Given the description of an element on the screen output the (x, y) to click on. 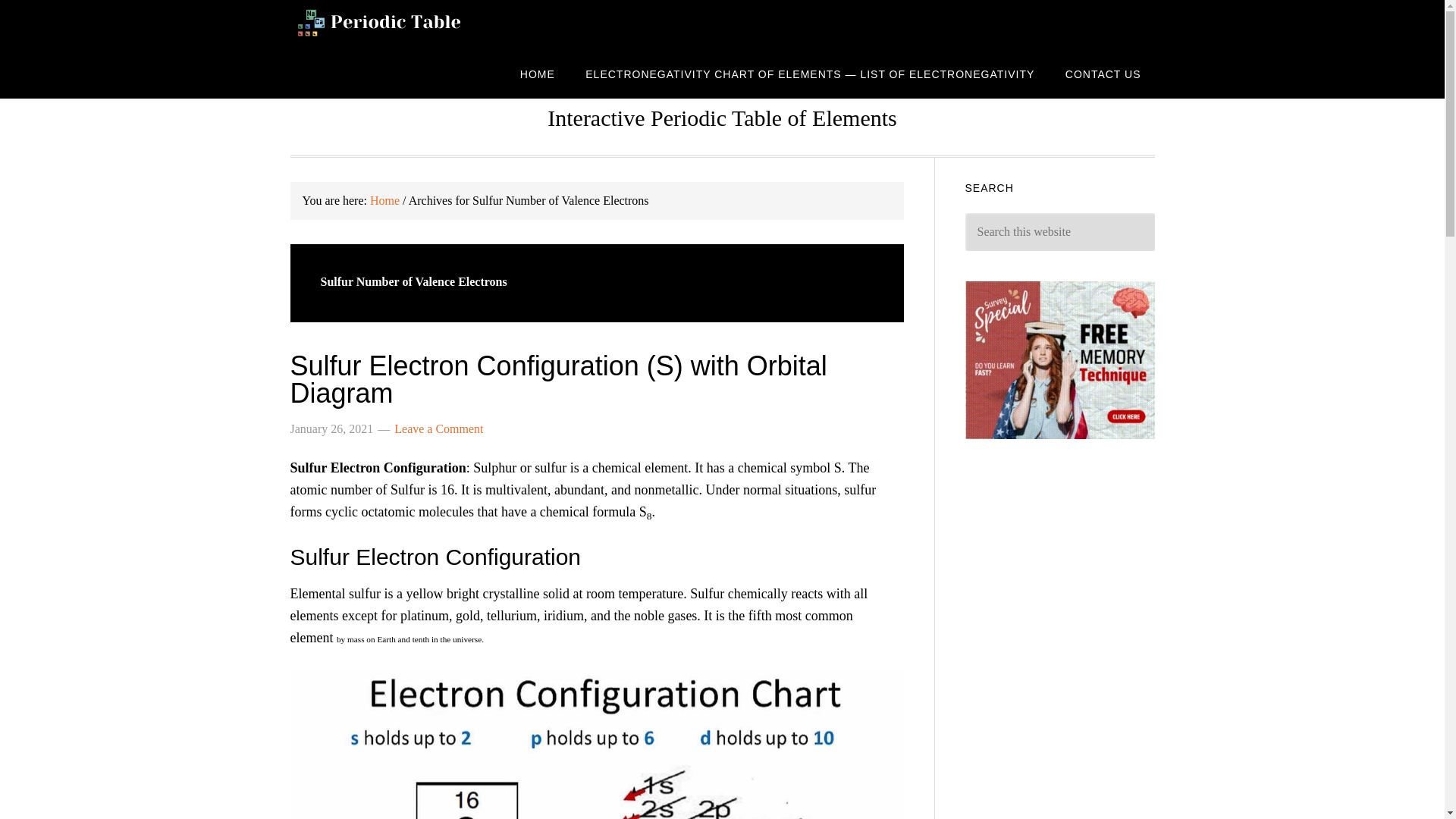
CONTACT US (1102, 73)
HOME (537, 73)
Leave a Comment (438, 428)
DYNAMIC PERIODIC TABLE OF ELEMENTS AND CHEMISTRY (410, 24)
Home (383, 200)
